Given the description of an element on the screen output the (x, y) to click on. 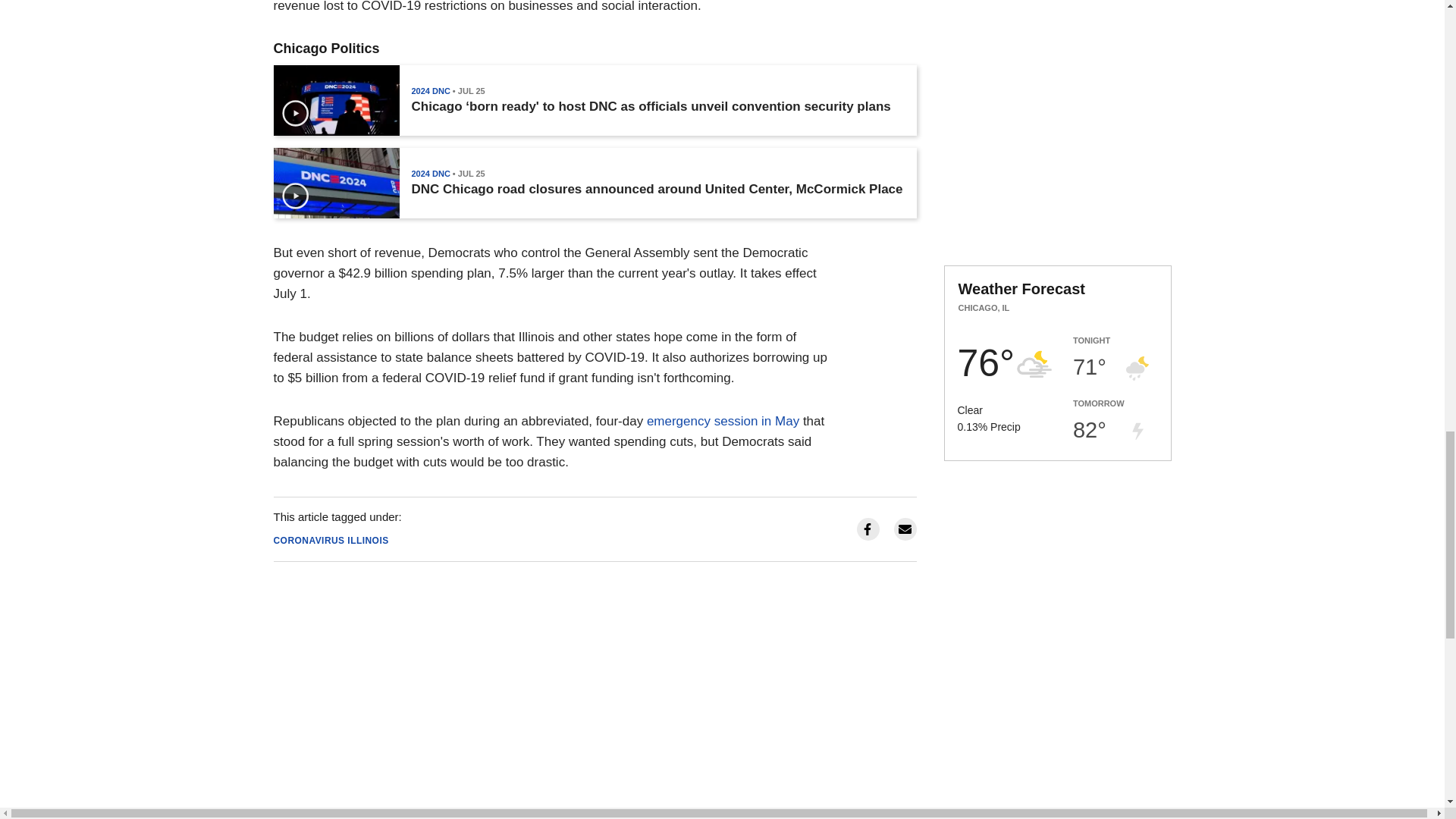
2024 DNC (429, 173)
emergency session in May (722, 421)
2024 DNC (429, 90)
